Given the description of an element on the screen output the (x, y) to click on. 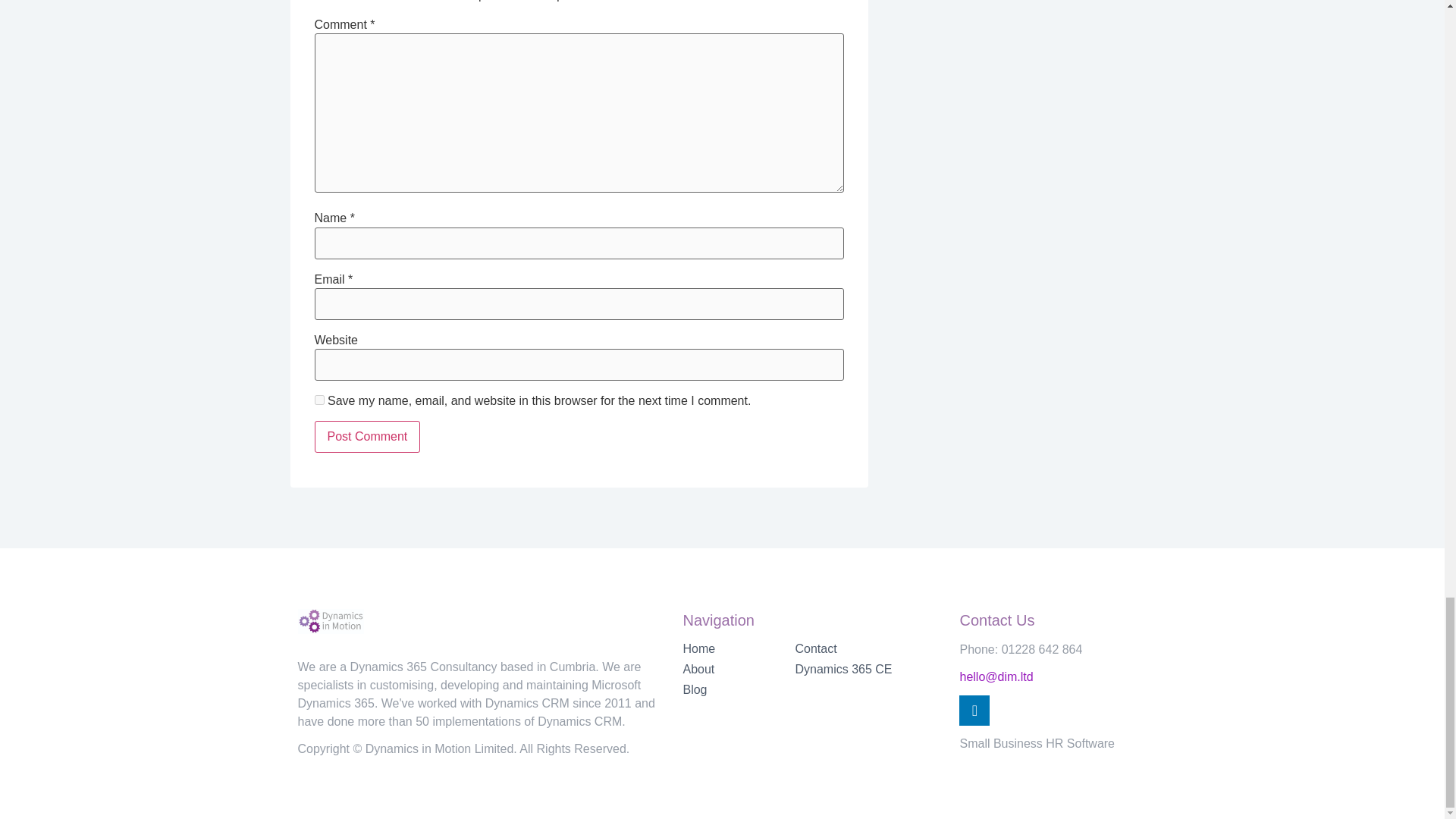
Post Comment (367, 436)
Dynamics 365 CE (868, 669)
Contact (868, 648)
Phone: 01228 642 864 (1020, 649)
Post Comment (367, 436)
yes (318, 399)
Home (738, 648)
About (738, 669)
Blog (738, 689)
